Given the description of an element on the screen output the (x, y) to click on. 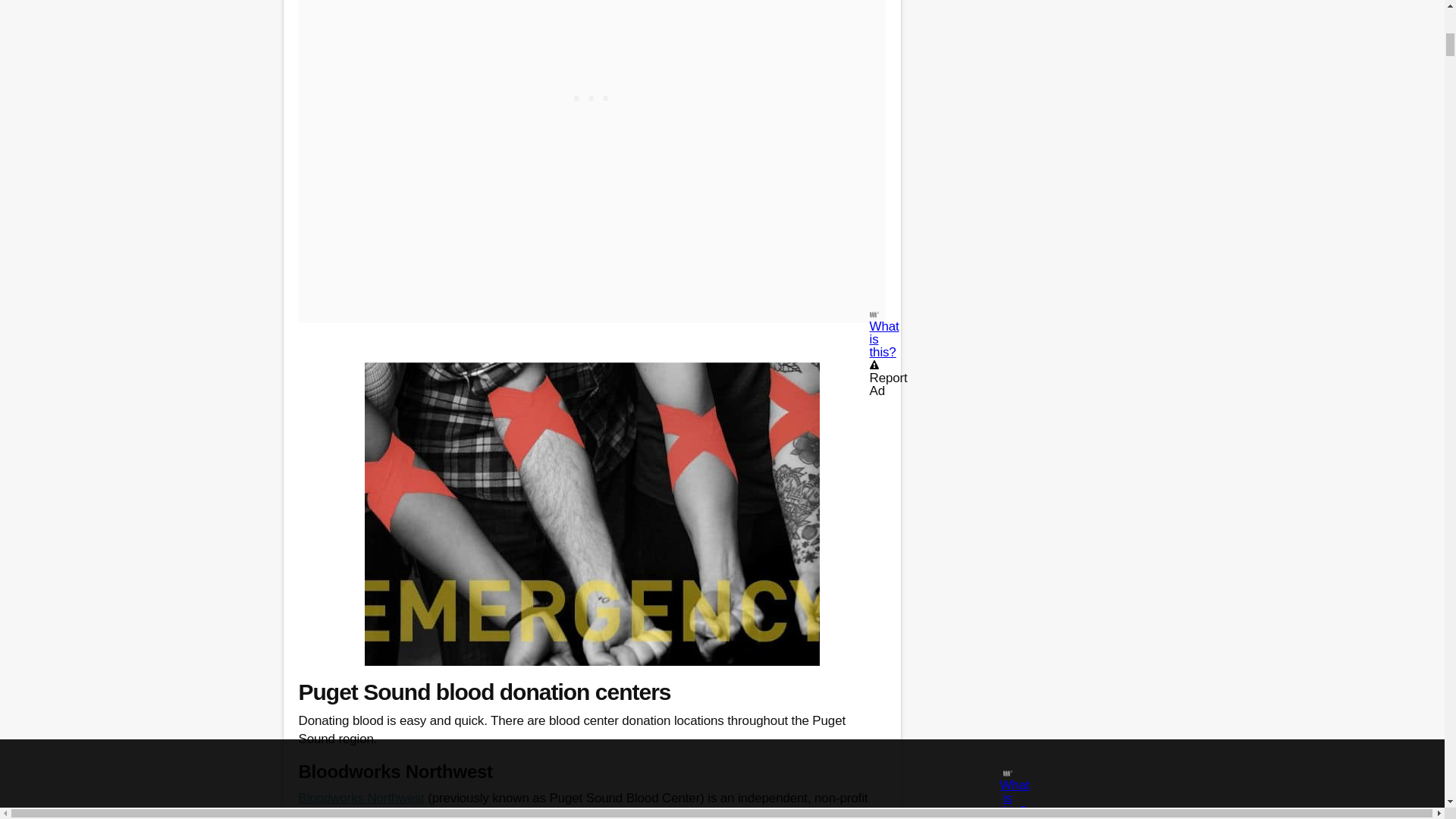
3rd party ad content (590, 89)
